Given the description of an element on the screen output the (x, y) to click on. 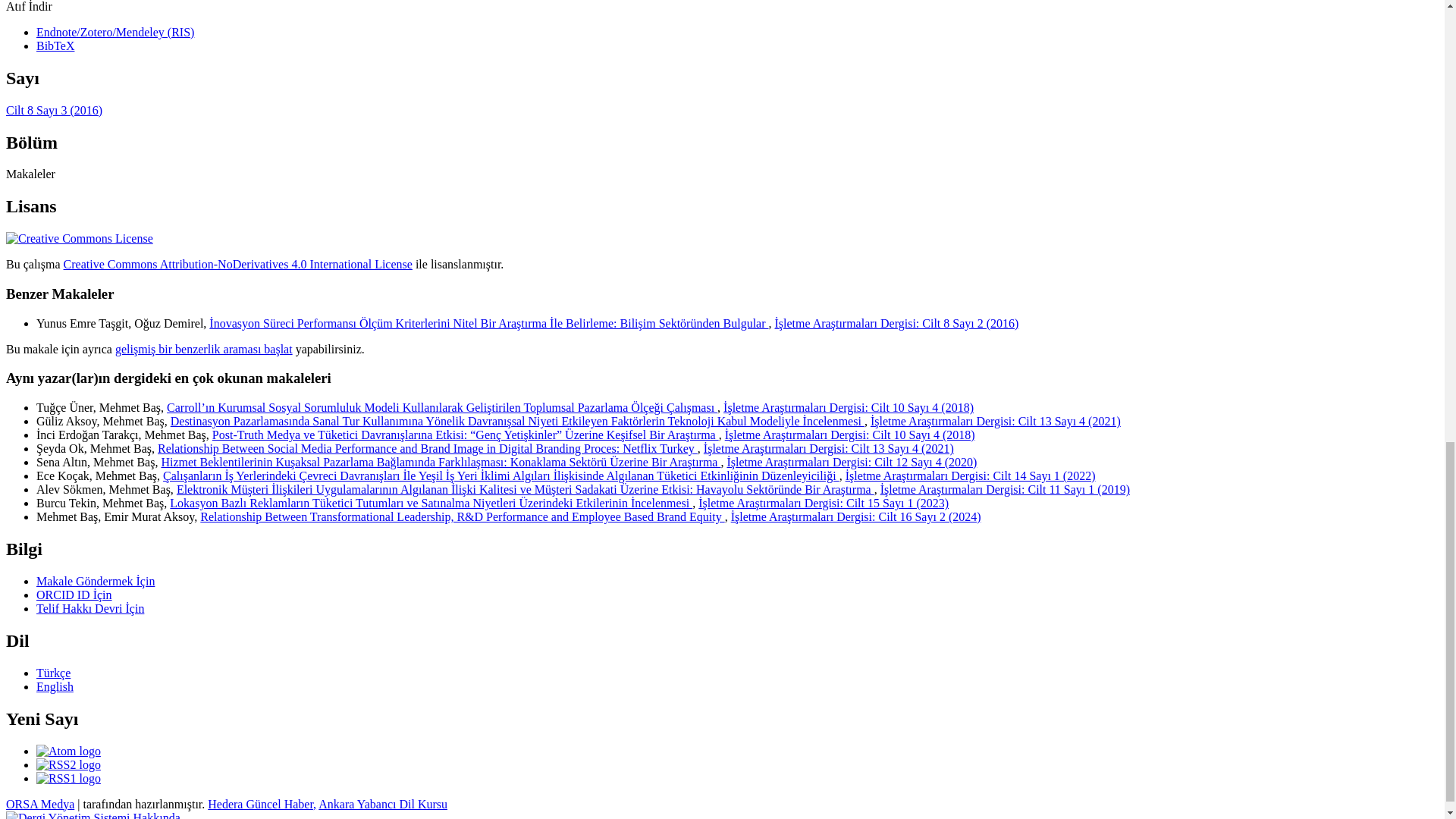
BibTeX (55, 45)
SEO Nedir? (39, 803)
